Given the description of an element on the screen output the (x, y) to click on. 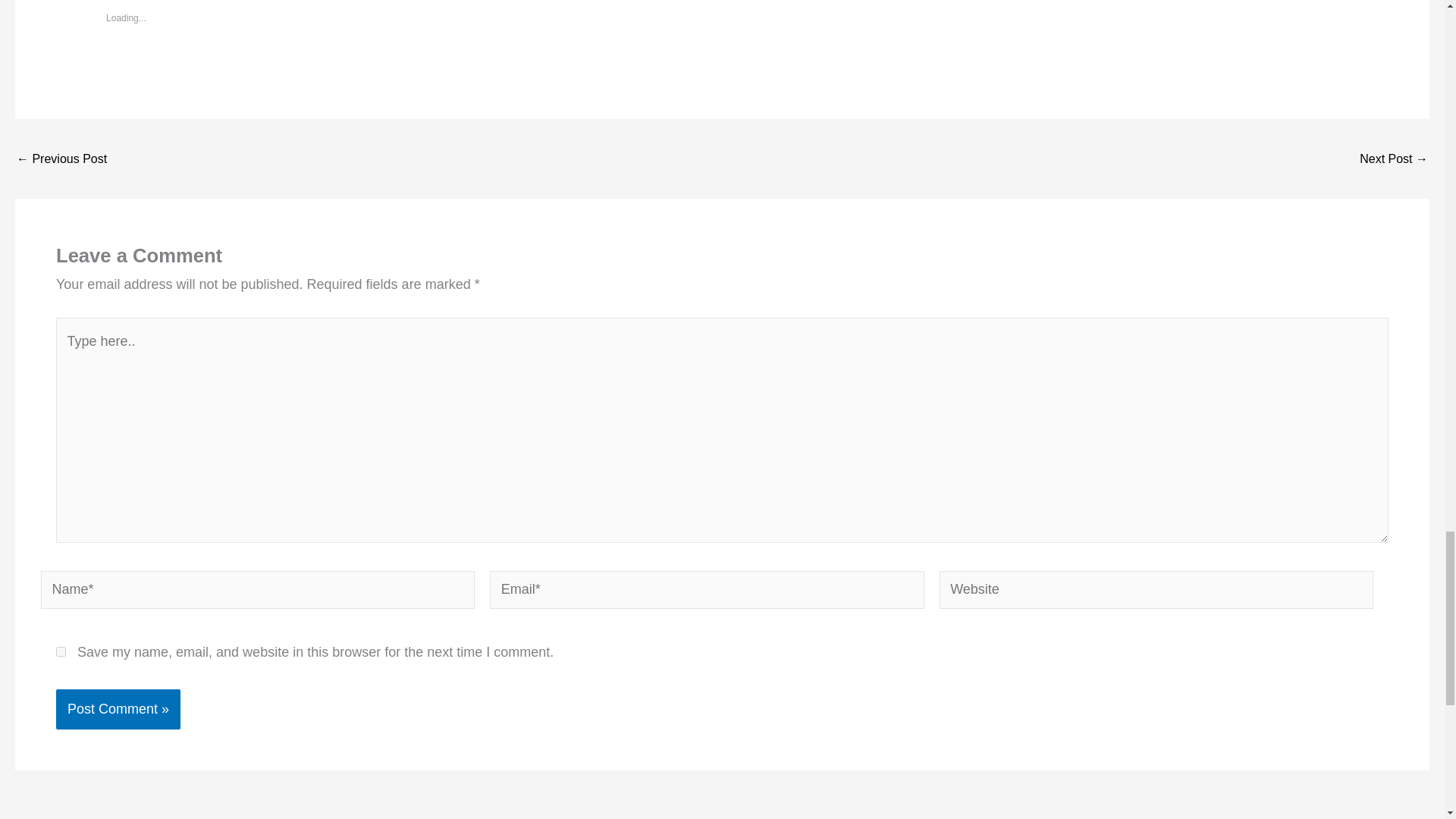
Relationships between doctors and patients are unethical (1393, 159)
Villagers boycott election over pollution (61, 159)
yes (60, 651)
